Given the description of an element on the screen output the (x, y) to click on. 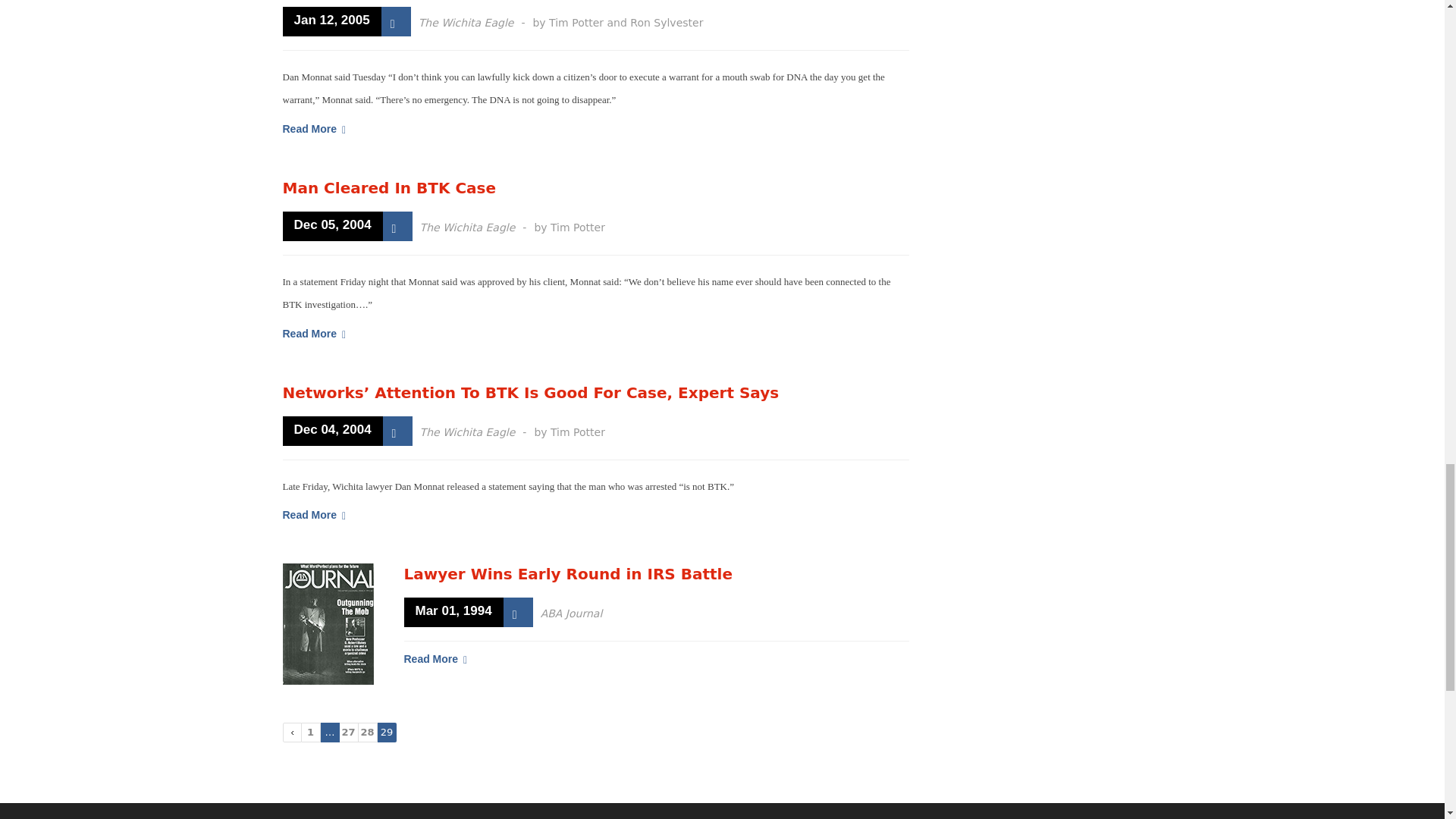
Read More (314, 128)
Man Cleared In BTK Case (389, 188)
Jan 12, 2005 (331, 21)
Mar 01, 1994 (452, 612)
Dec 04, 2004 (331, 430)
Dec 05, 2004 (331, 225)
